Given the description of an element on the screen output the (x, y) to click on. 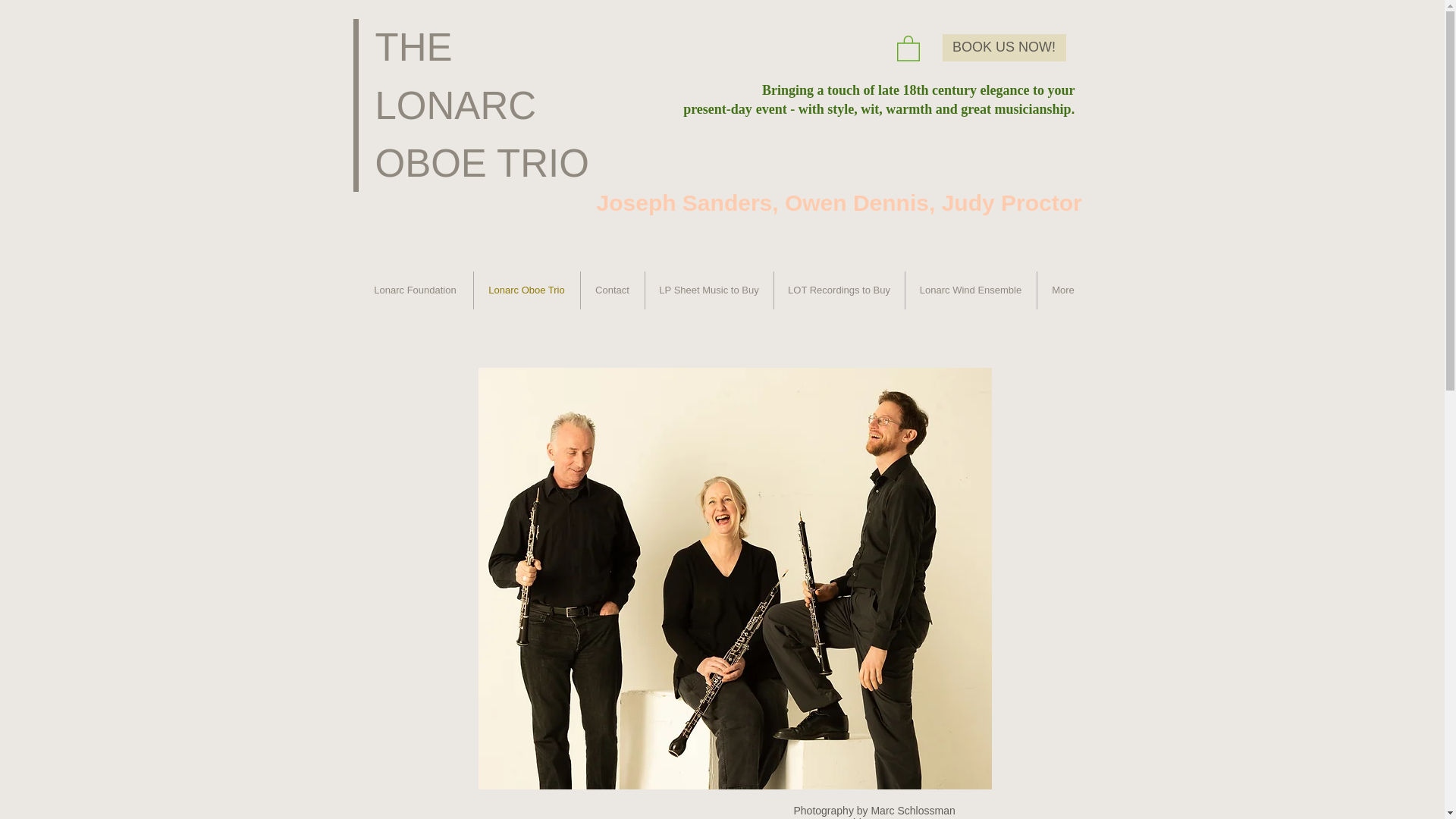
BOOK US NOW! (1003, 47)
Lonarc Foundation (415, 290)
Lonarc Oboe Trio (526, 290)
